Given the description of an element on the screen output the (x, y) to click on. 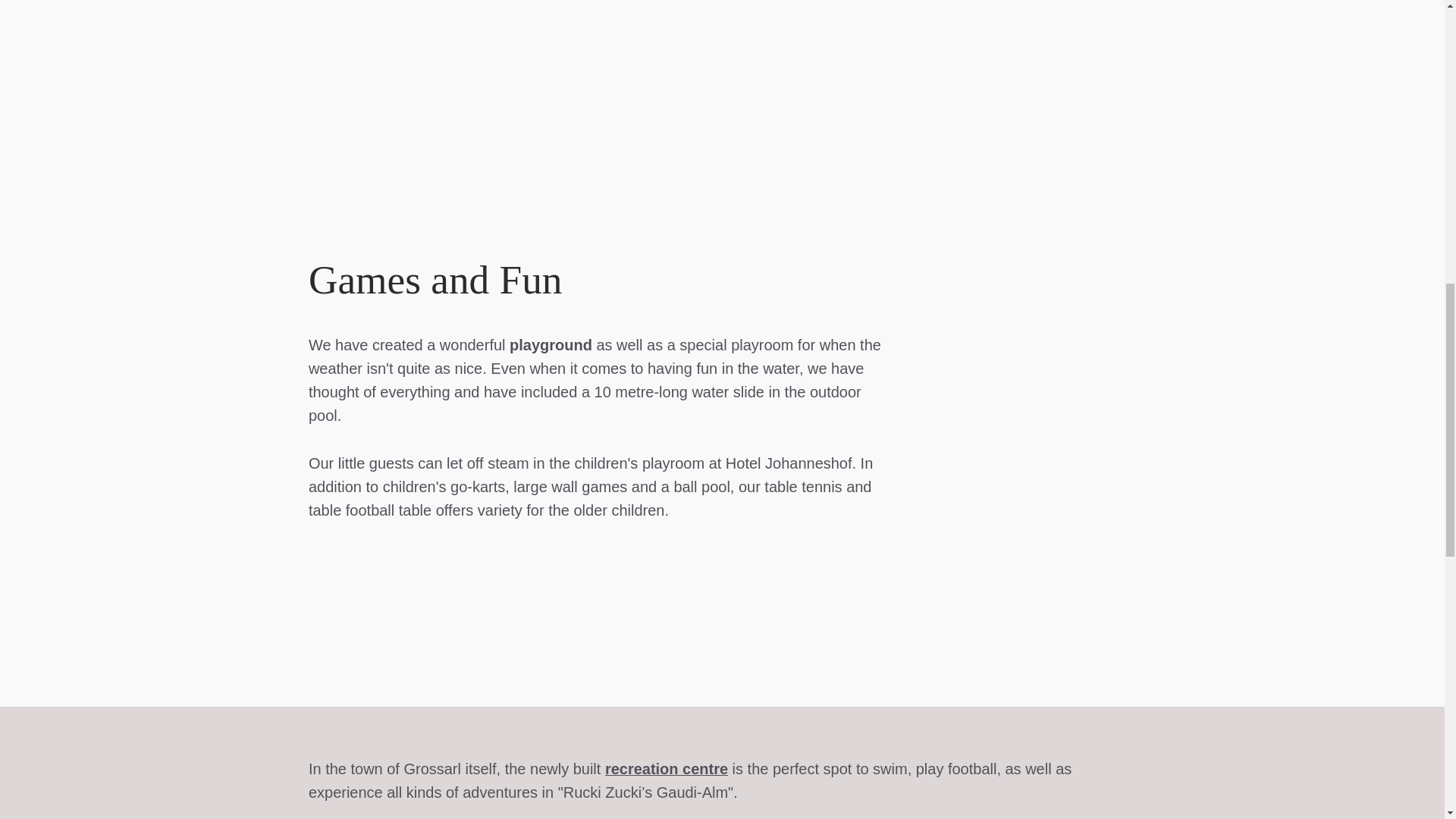
recreation centre (666, 769)
